Given the description of an element on the screen output the (x, y) to click on. 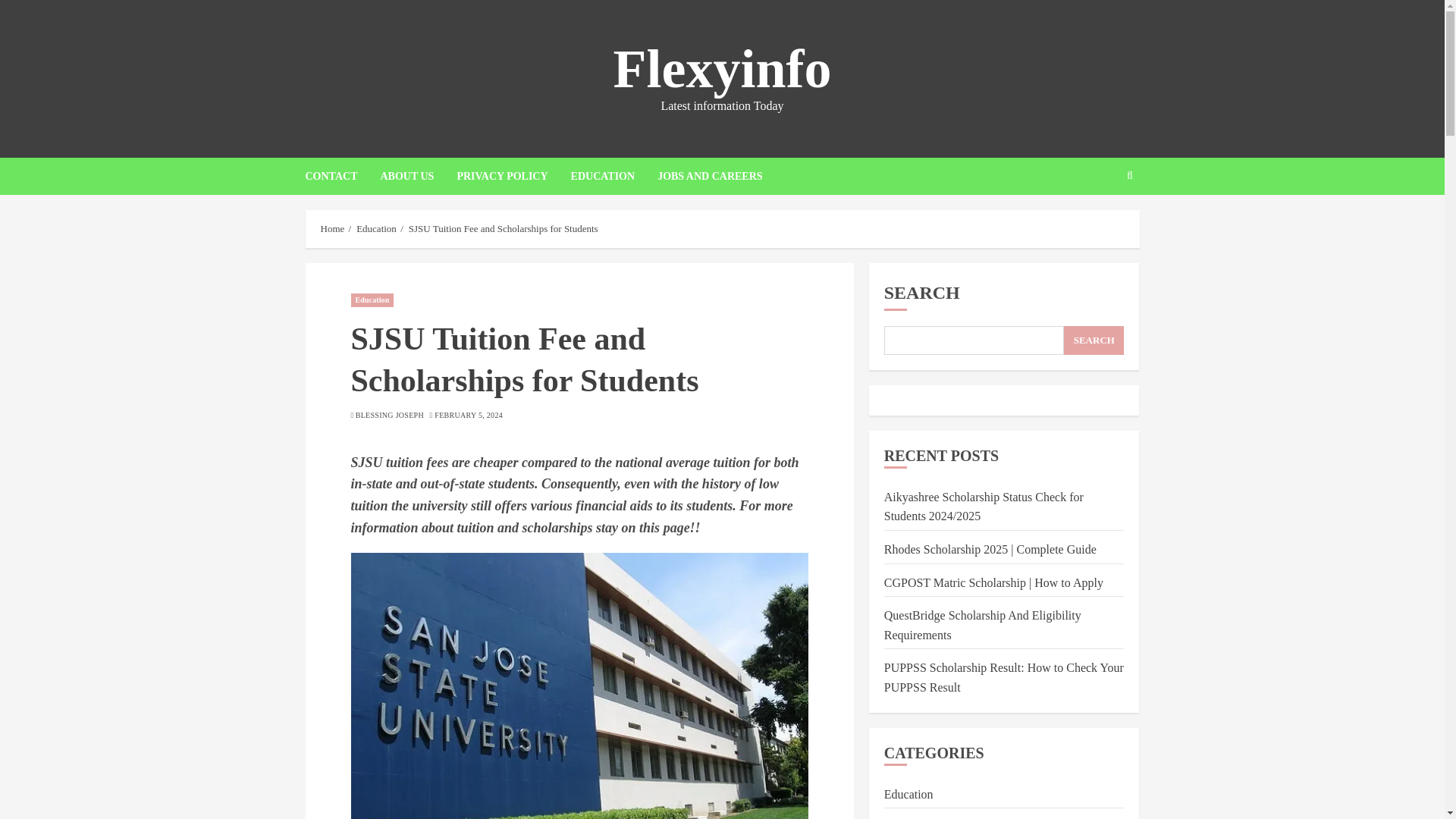
JOBS AND CAREERS (709, 176)
Flexyinfo (721, 68)
SJSU Tuition Fee and Scholarships for Students (503, 228)
Education (371, 300)
BLESSING JOSEPH (389, 415)
ABOUT US (418, 176)
Home (331, 228)
PRIVACY POLICY (513, 176)
Search (1099, 222)
EDUCATION (614, 176)
Education (376, 228)
CONTACT (342, 176)
FEBRUARY 5, 2024 (467, 415)
